Given the description of an element on the screen output the (x, y) to click on. 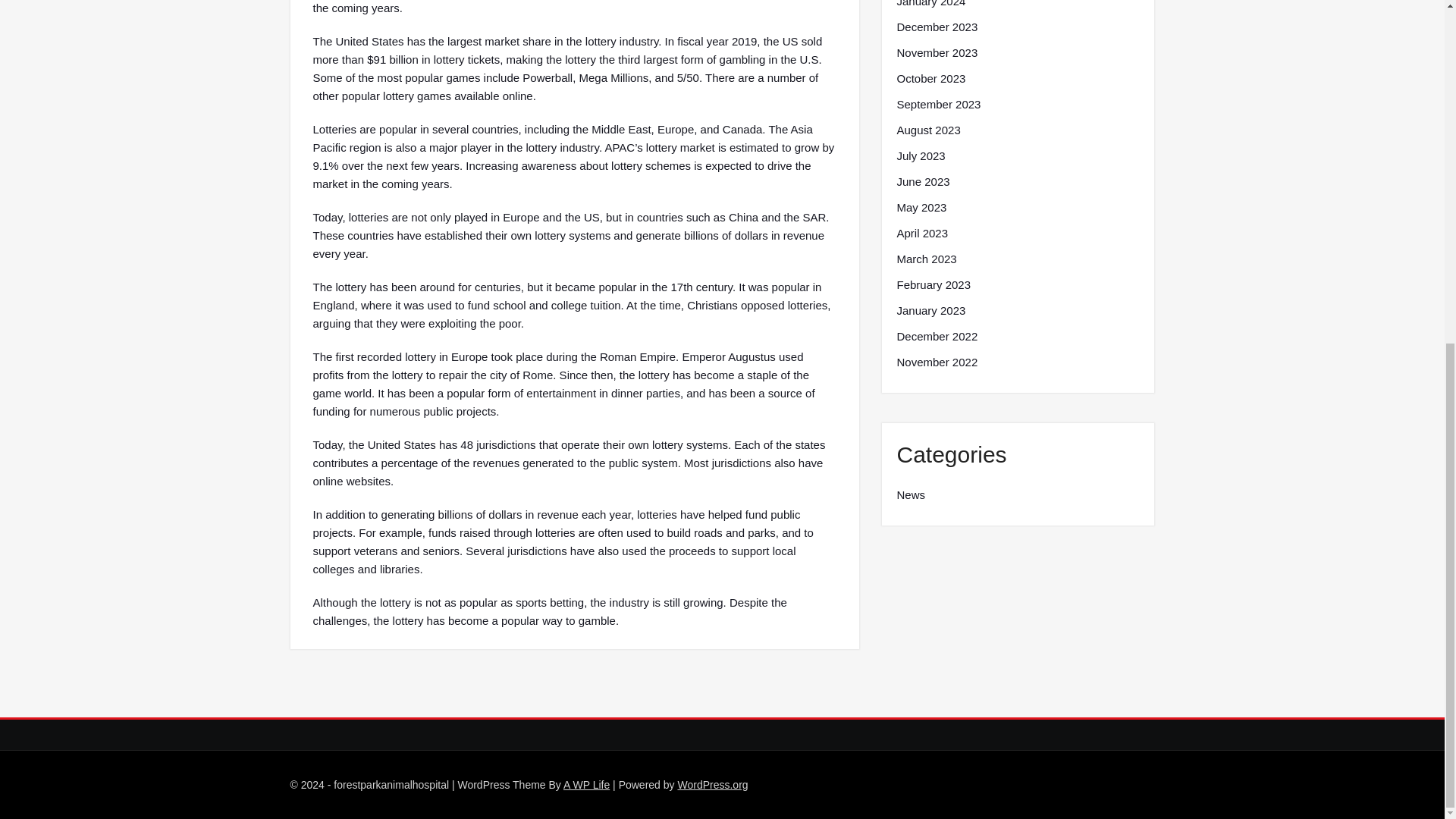
A WP Life (586, 784)
December 2023 (936, 27)
November 2023 (936, 53)
October 2023 (930, 78)
February 2023 (933, 285)
January 2023 (930, 311)
September 2023 (937, 104)
December 2022 (936, 336)
March 2023 (926, 259)
May 2023 (921, 208)
